Given the description of an element on the screen output the (x, y) to click on. 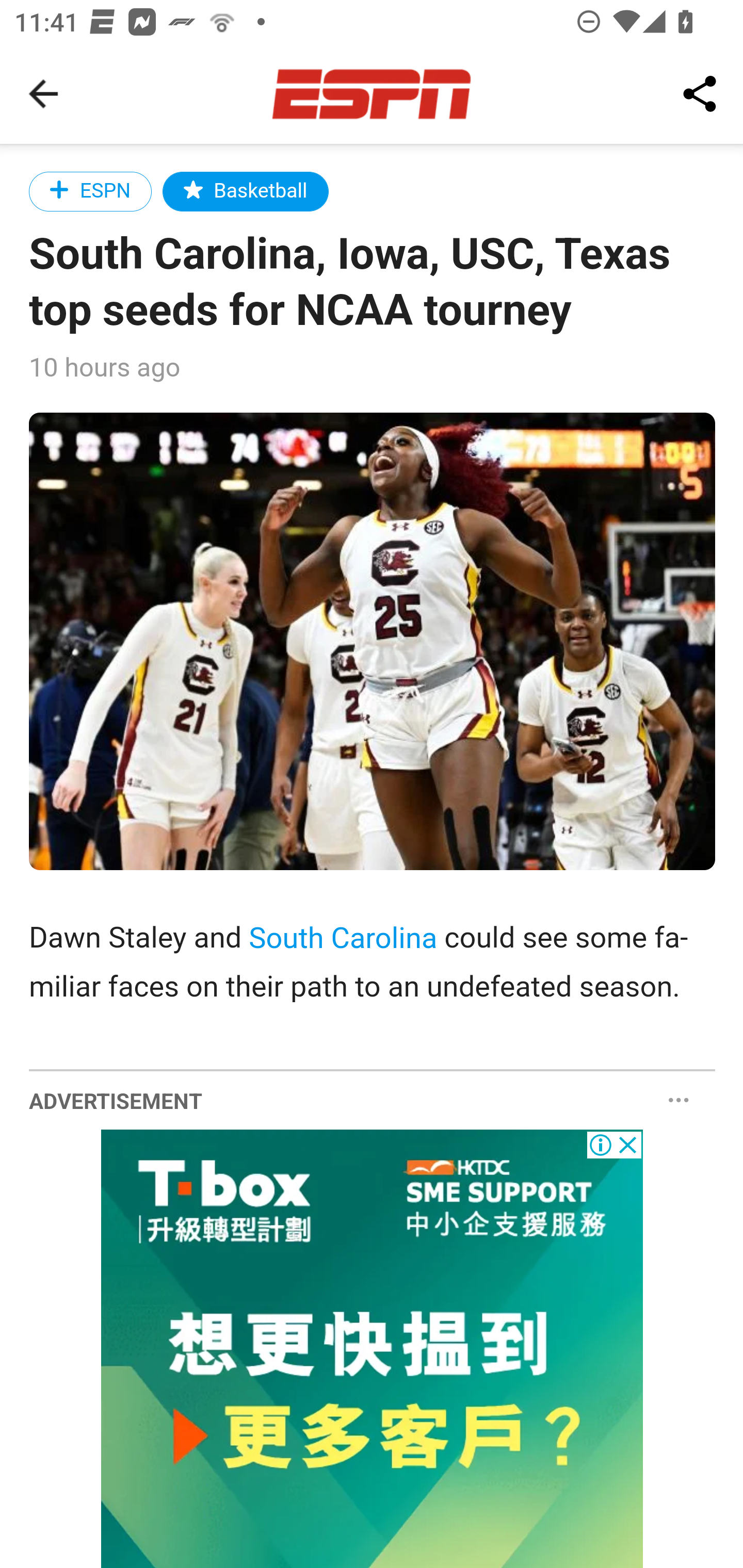
ESPN (90, 191)
Basketball (245, 191)
South Carolina (342, 937)
